Given the description of an element on the screen output the (x, y) to click on. 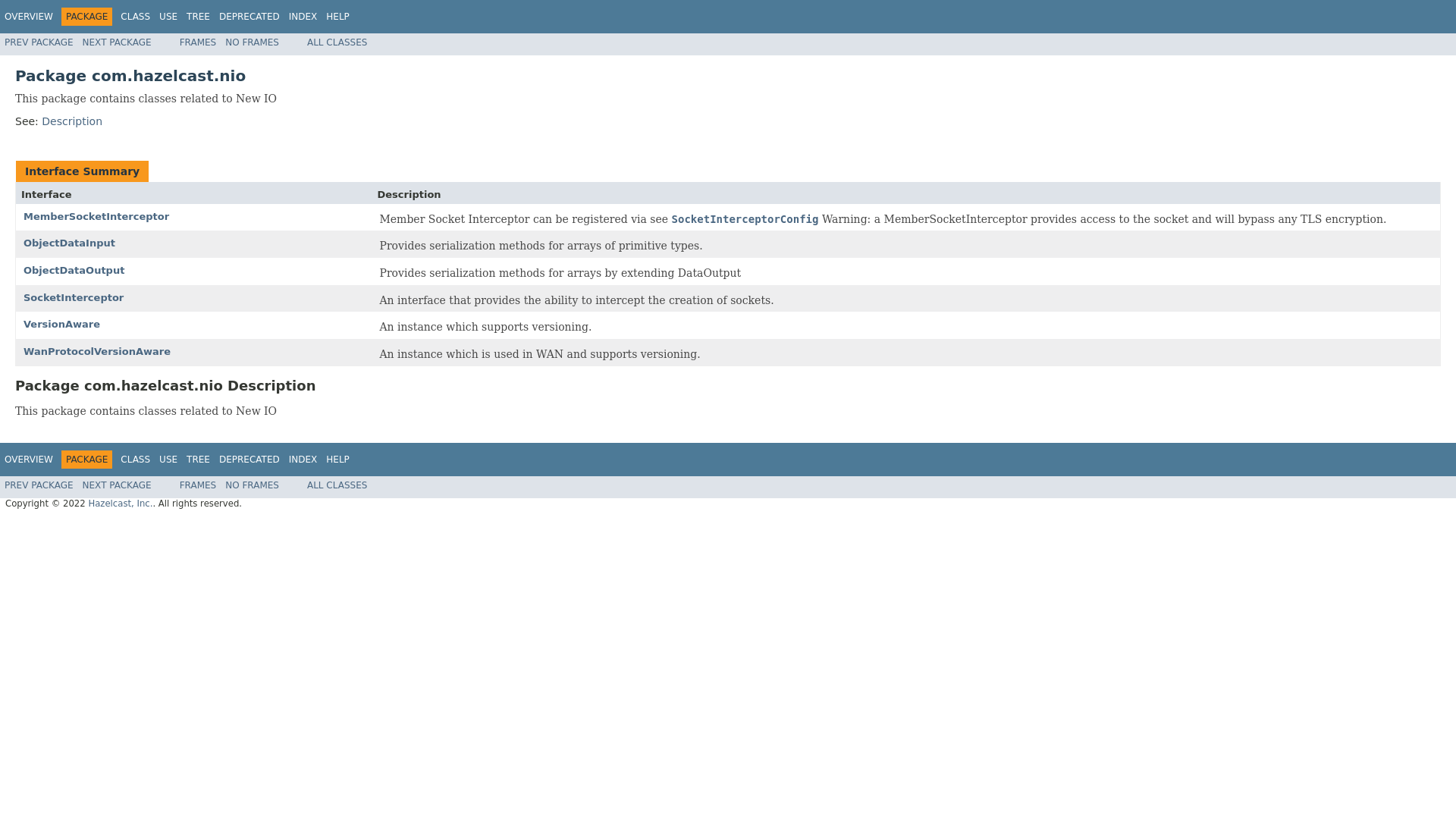
PREV PACKAGE (39, 484)
interface in com.hazelcast.nio (69, 242)
Package (727, 75)
TREE (197, 459)
ALL CLASSES (336, 484)
class in com.hazelcast.config (744, 219)
NEXT PACKAGE (116, 484)
INDEX (302, 459)
FRAMES (197, 484)
VersionAware (61, 324)
